Given the description of an element on the screen output the (x, y) to click on. 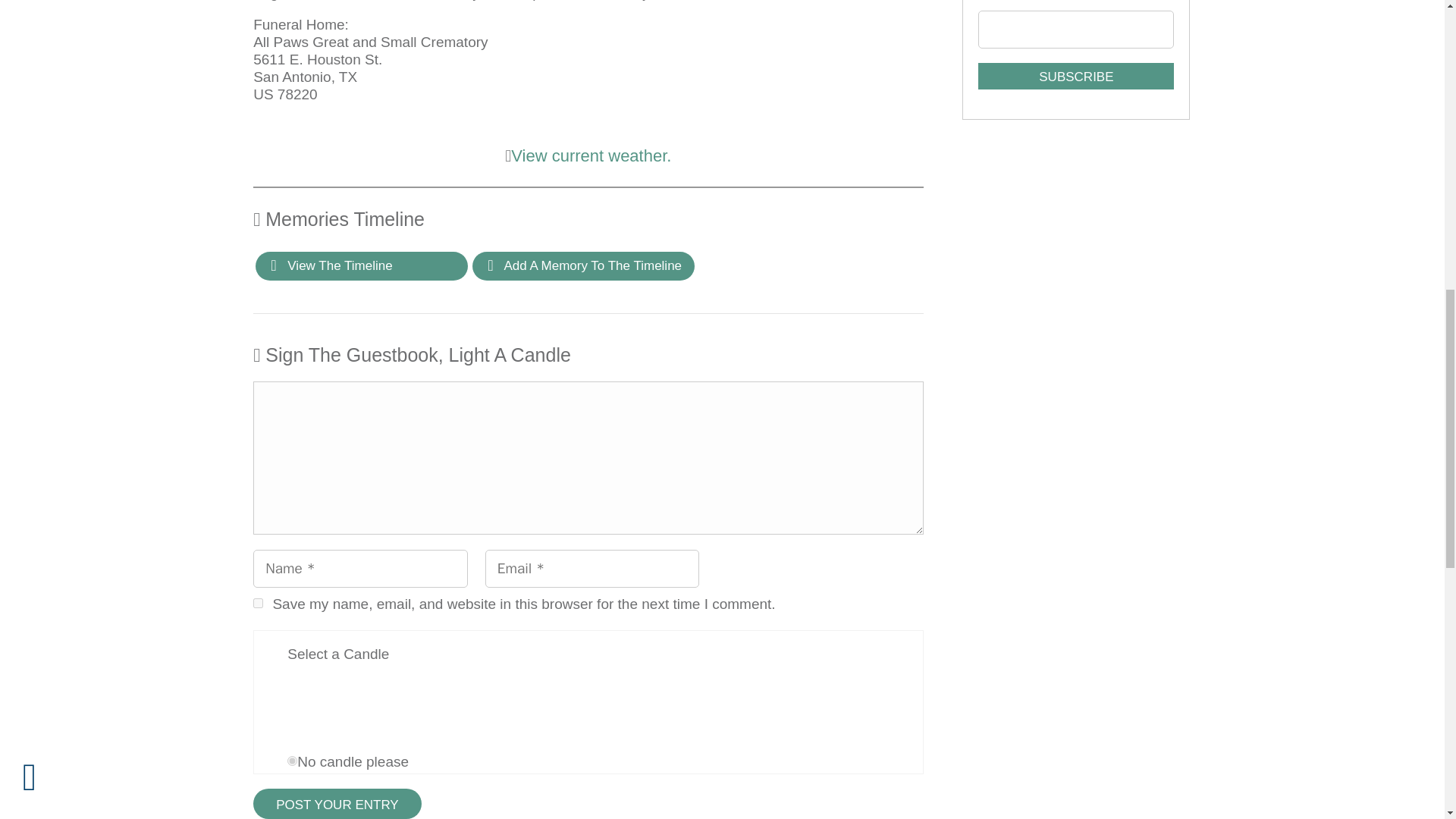
Subscribe (1075, 76)
Post Your Entry (337, 803)
yes (258, 602)
